Given the description of an element on the screen output the (x, y) to click on. 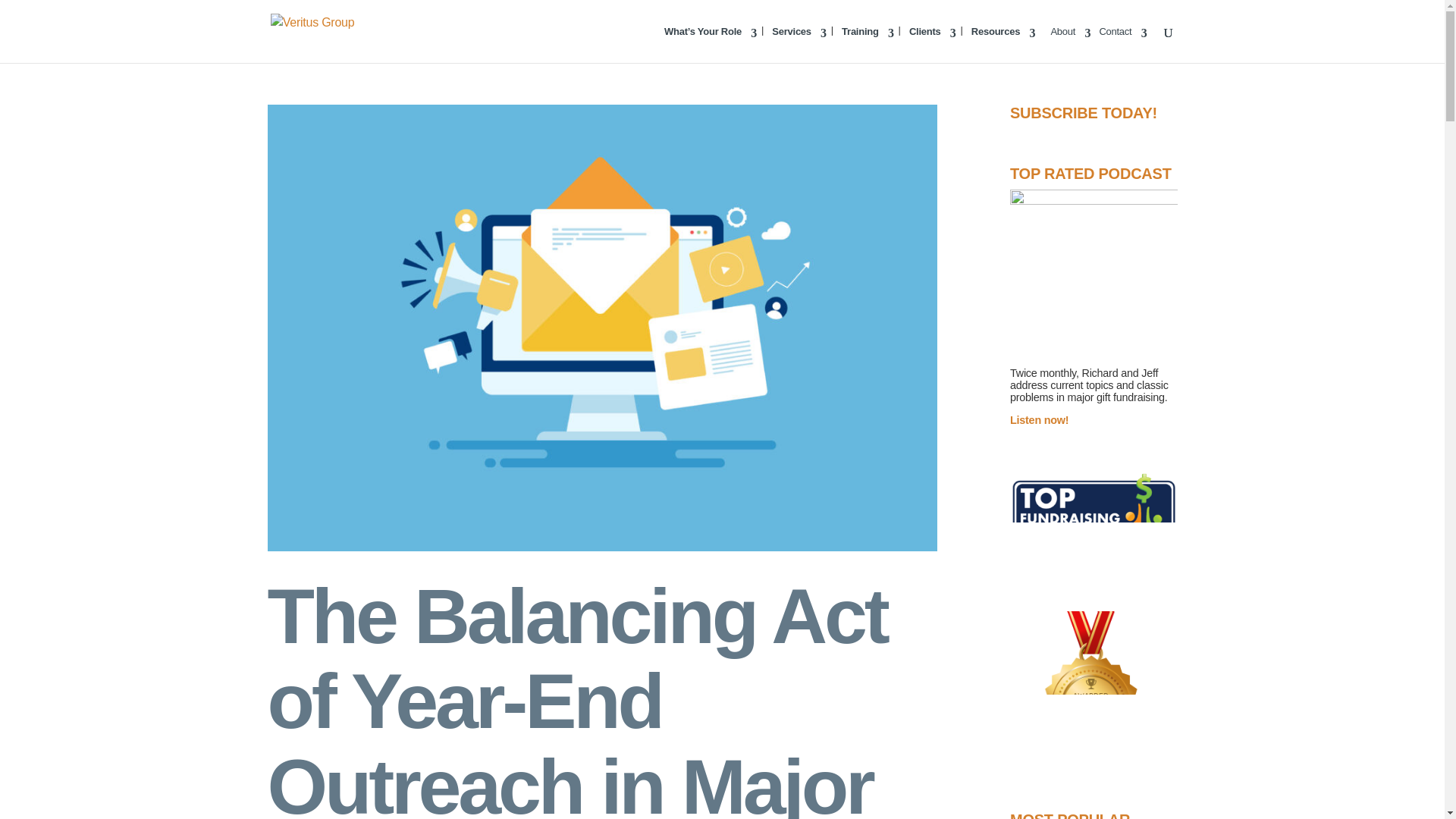
Services (799, 44)
About (1069, 44)
Training (867, 44)
Clients (932, 44)
Resources (1003, 44)
Contact (1123, 44)
